Given the description of an element on the screen output the (x, y) to click on. 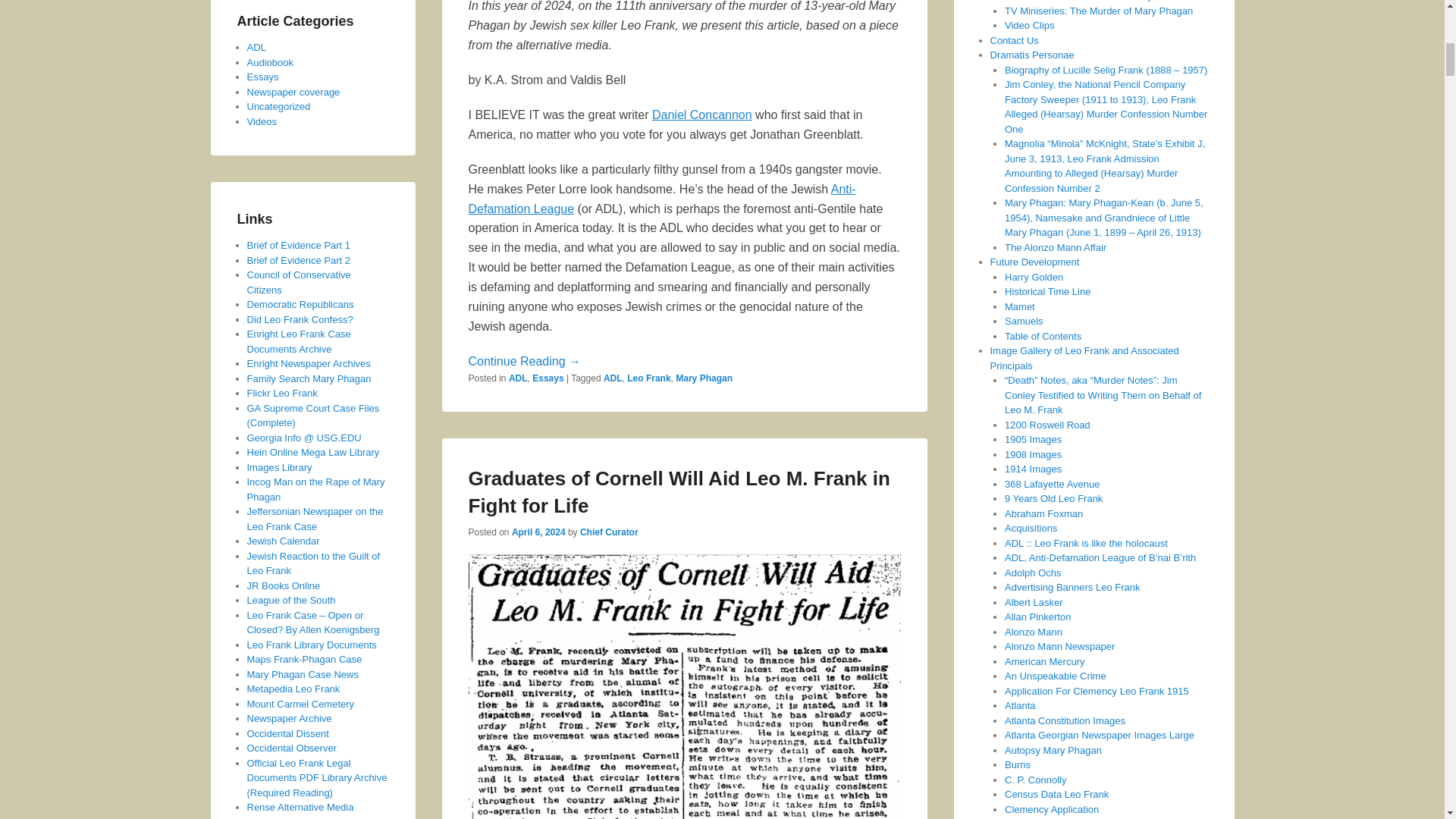
View all posts by Chief Curator (609, 532)
11:46 PM (539, 532)
